Given the description of an element on the screen output the (x, y) to click on. 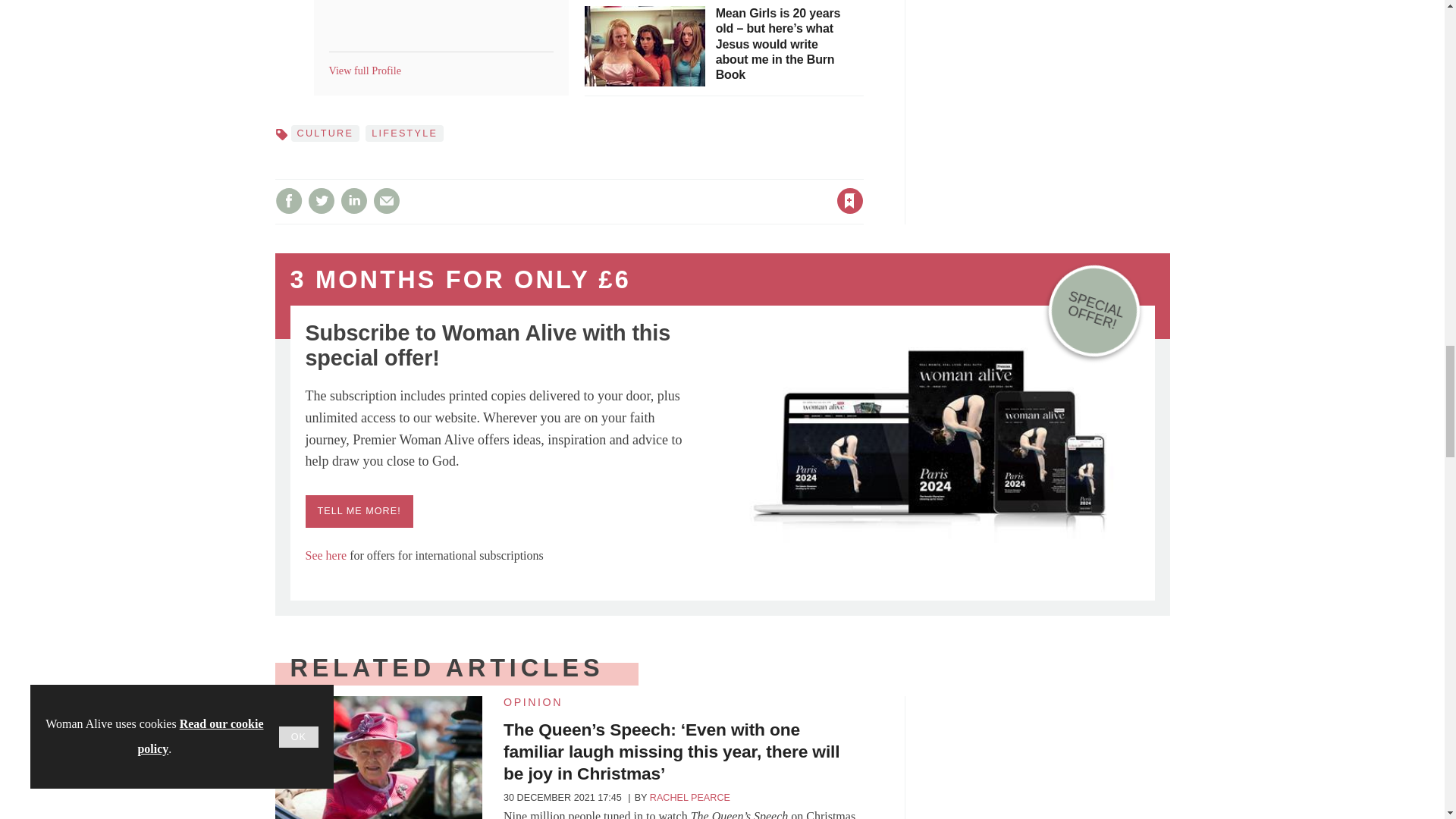
Share this on Twitter (320, 200)
Share this on Linked in (352, 200)
3rd party ad content (1055, 757)
Share this on Facebook (288, 200)
Email this article (386, 200)
